Given the description of an element on the screen output the (x, y) to click on. 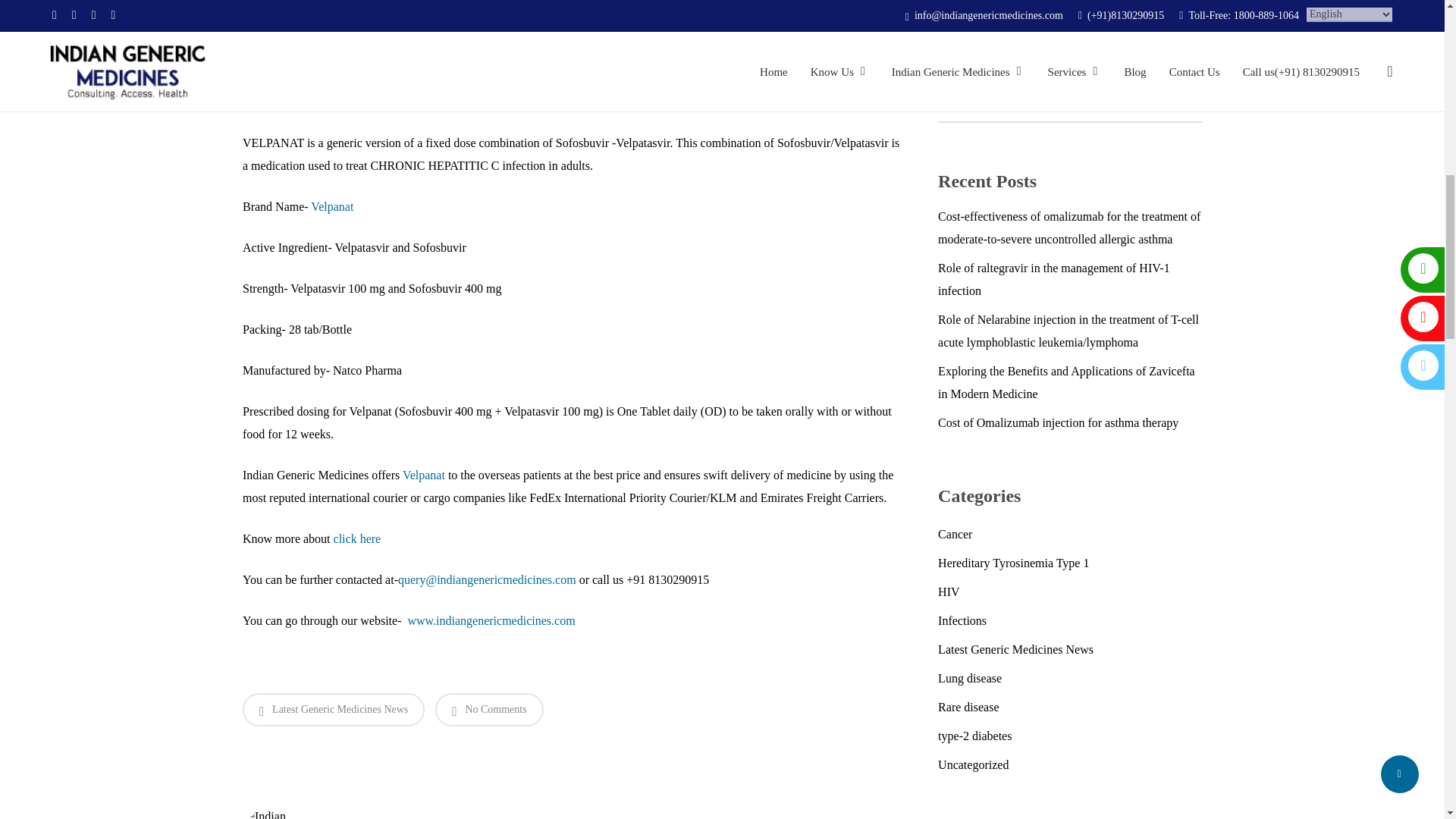
Search for: (1069, 104)
